Given the description of an element on the screen output the (x, y) to click on. 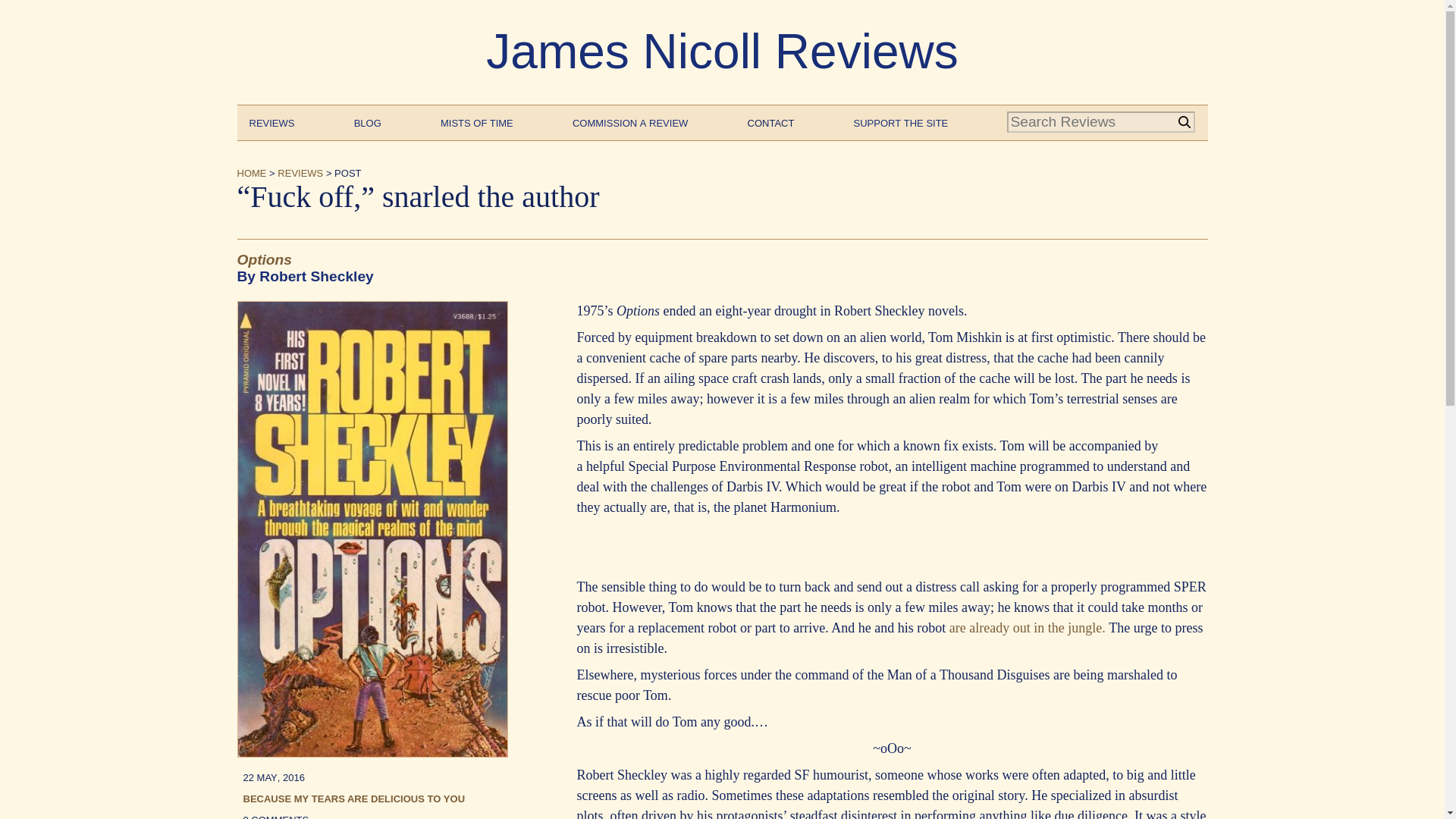
are already out in the jungle. (1028, 627)
Reviews (271, 121)
Commission a Review (629, 121)
James Nicoll Reviews (722, 51)
Reviews (300, 171)
Blog (367, 121)
Mists of Time (477, 121)
Support the Site (901, 121)
Because My Tears Are Delicious To You (353, 797)
Home (250, 171)
